Given the description of an element on the screen output the (x, y) to click on. 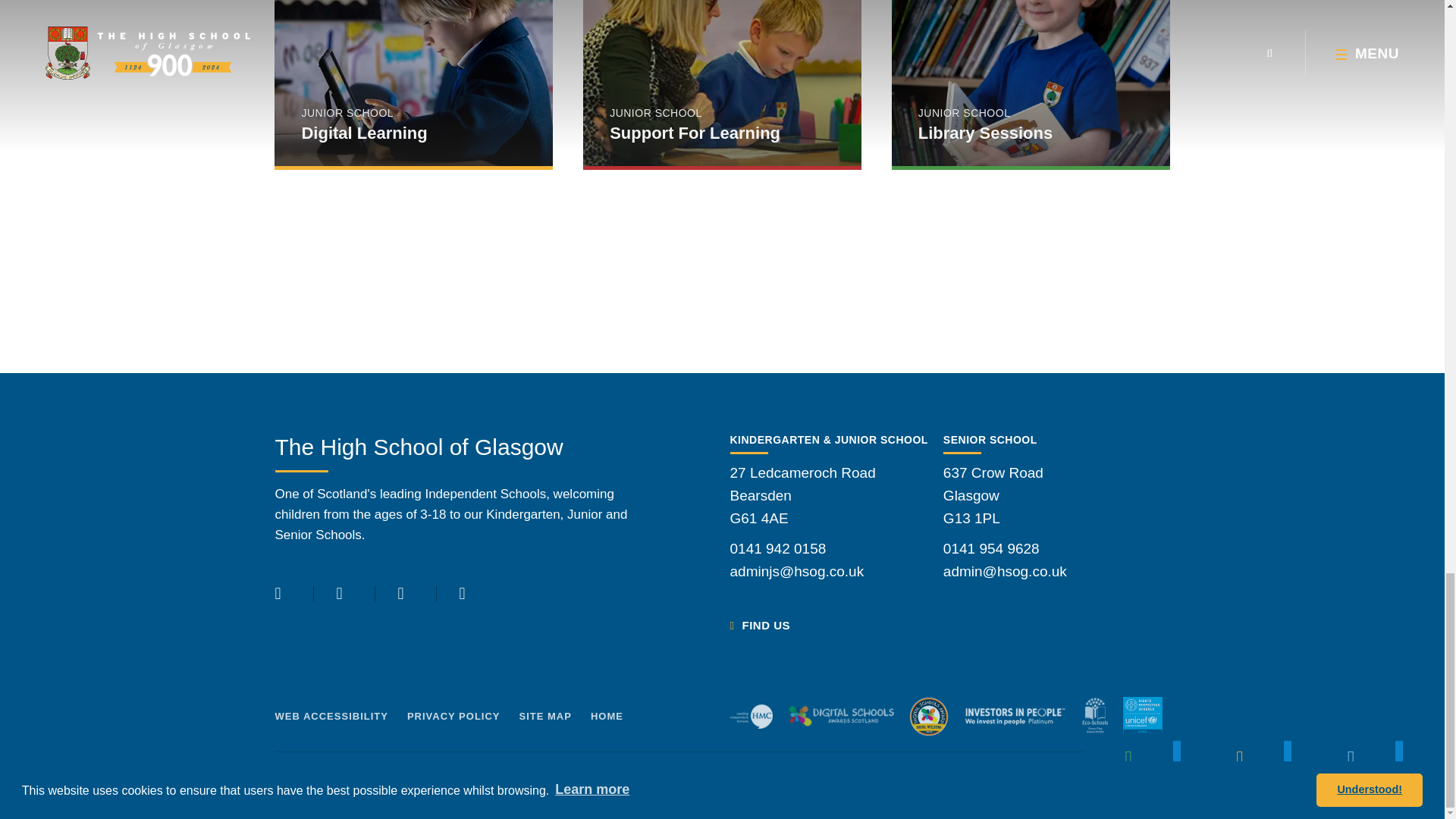
Powered by Finalsite opens in a new window (1118, 770)
Library Sessions (1030, 83)
Find Us (759, 625)
Support For Learning (722, 83)
Digital Learning (414, 83)
